Given the description of an element on the screen output the (x, y) to click on. 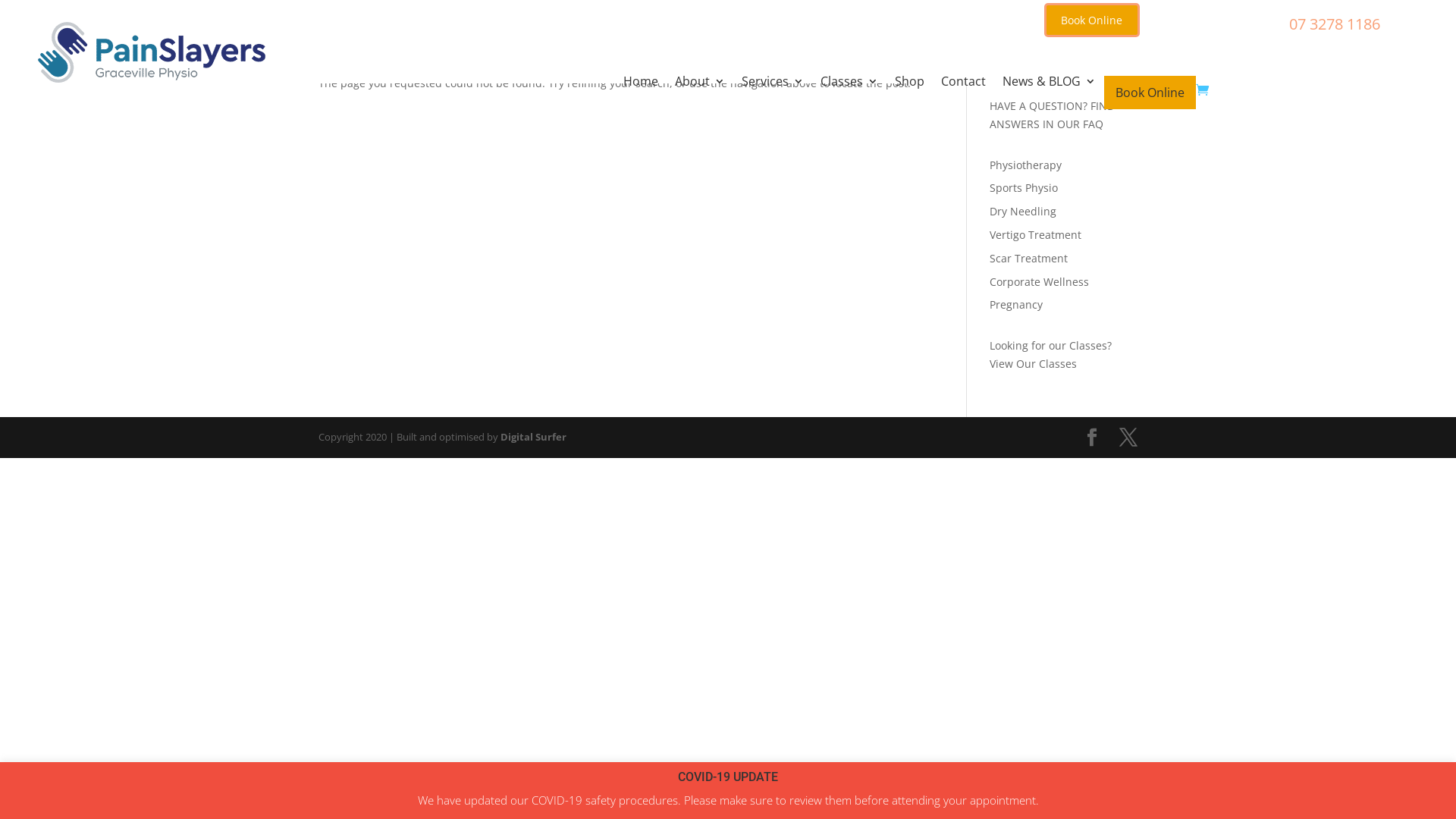
Sports Physio Element type: text (1023, 187)
Vertigo Treatment Element type: text (1035, 234)
HAVE A QUESTION? FIND ANSWERS IN OUR FAQ Element type: text (1051, 114)
logo-graceville300x80 Element type: hover (151, 51)
View Our Classes Element type: text (1032, 363)
Physiotherapy Element type: text (1025, 164)
Home Element type: text (640, 92)
Classes Element type: text (849, 92)
Pregnancy Element type: text (1015, 304)
Corporate Wellness Element type: text (1038, 281)
Book Online Element type: text (1091, 20)
Digital Surfer Element type: text (533, 436)
Services Element type: text (772, 92)
07 3278 1186 Element type: text (1334, 23)
Search Element type: text (1111, 58)
Book Online Element type: text (1149, 92)
Contact Element type: text (963, 92)
News & BLOG Element type: text (1048, 92)
Scar Treatment Element type: text (1028, 258)
About Element type: text (699, 92)
Dry Needling Element type: text (1022, 210)
Shop Element type: text (909, 92)
